Given the description of an element on the screen output the (x, y) to click on. 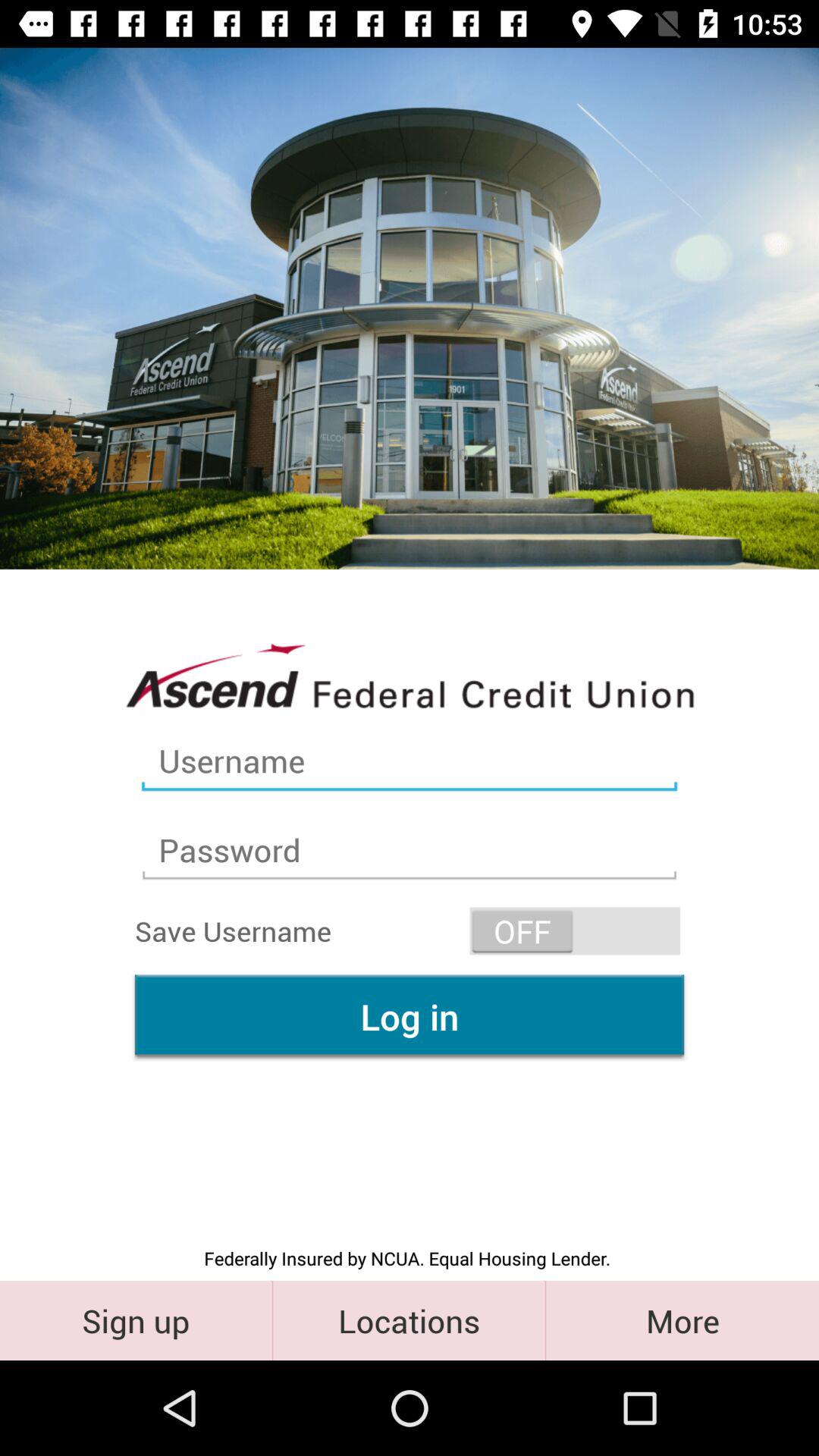
turn off item below federally insured by item (136, 1320)
